Given the description of an element on the screen output the (x, y) to click on. 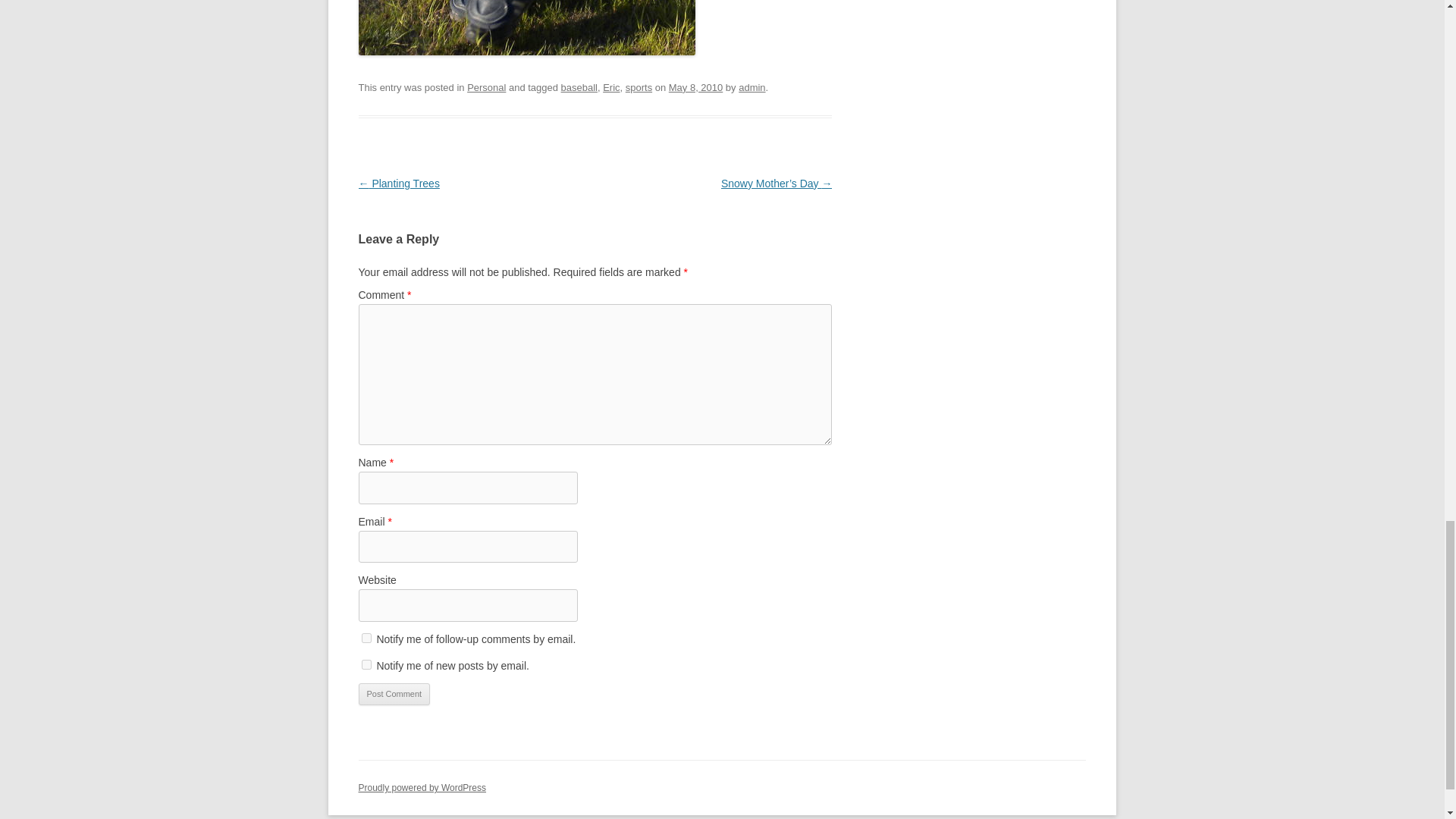
Semantic Personal Publishing Platform (422, 787)
View all posts by admin (751, 87)
6:49 am (695, 87)
DSCN1357 (526, 27)
subscribe (366, 637)
subscribe (366, 664)
Post Comment (393, 694)
